Given the description of an element on the screen output the (x, y) to click on. 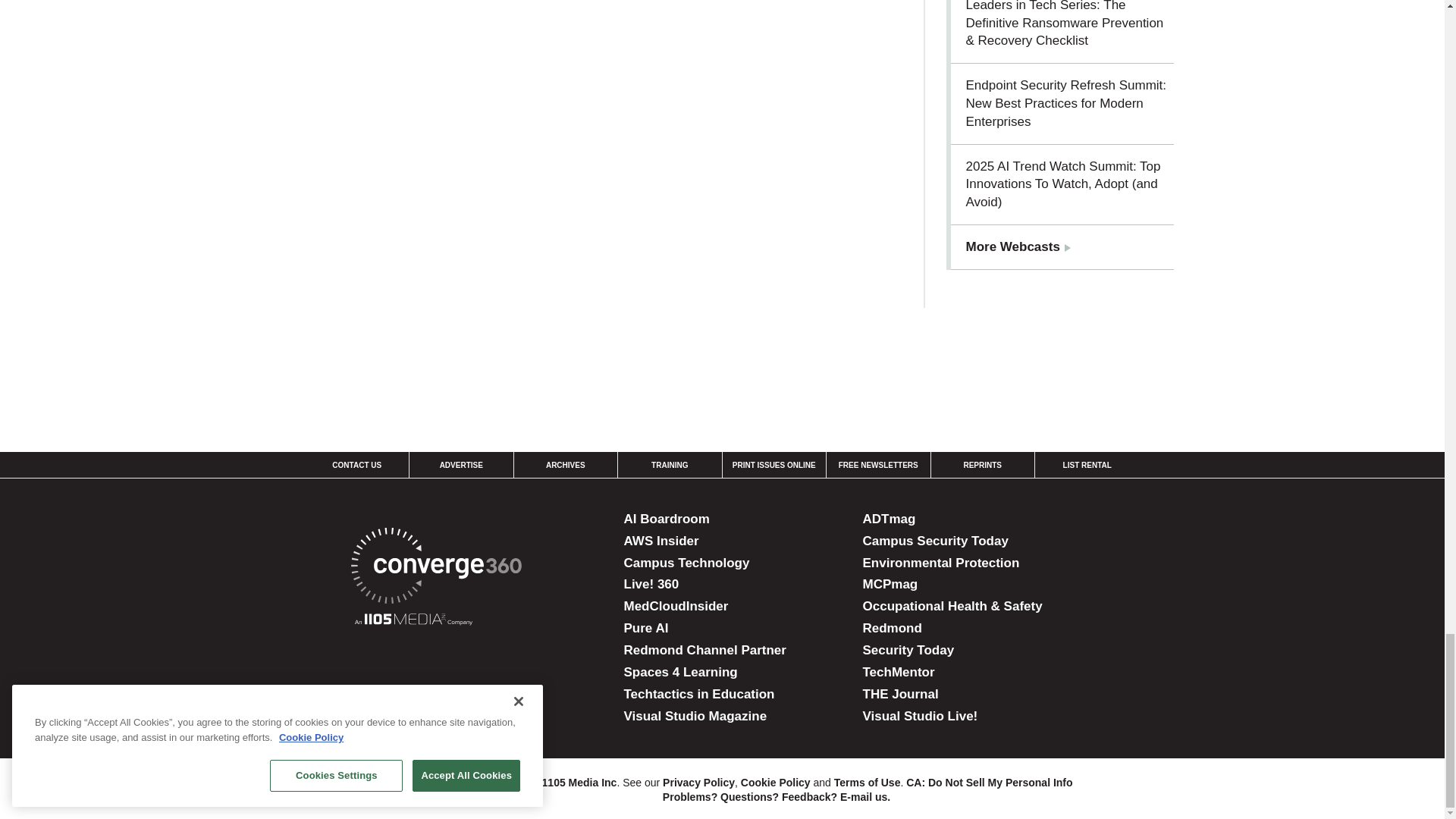
3rd party ad content (721, 360)
